Given the description of an element on the screen output the (x, y) to click on. 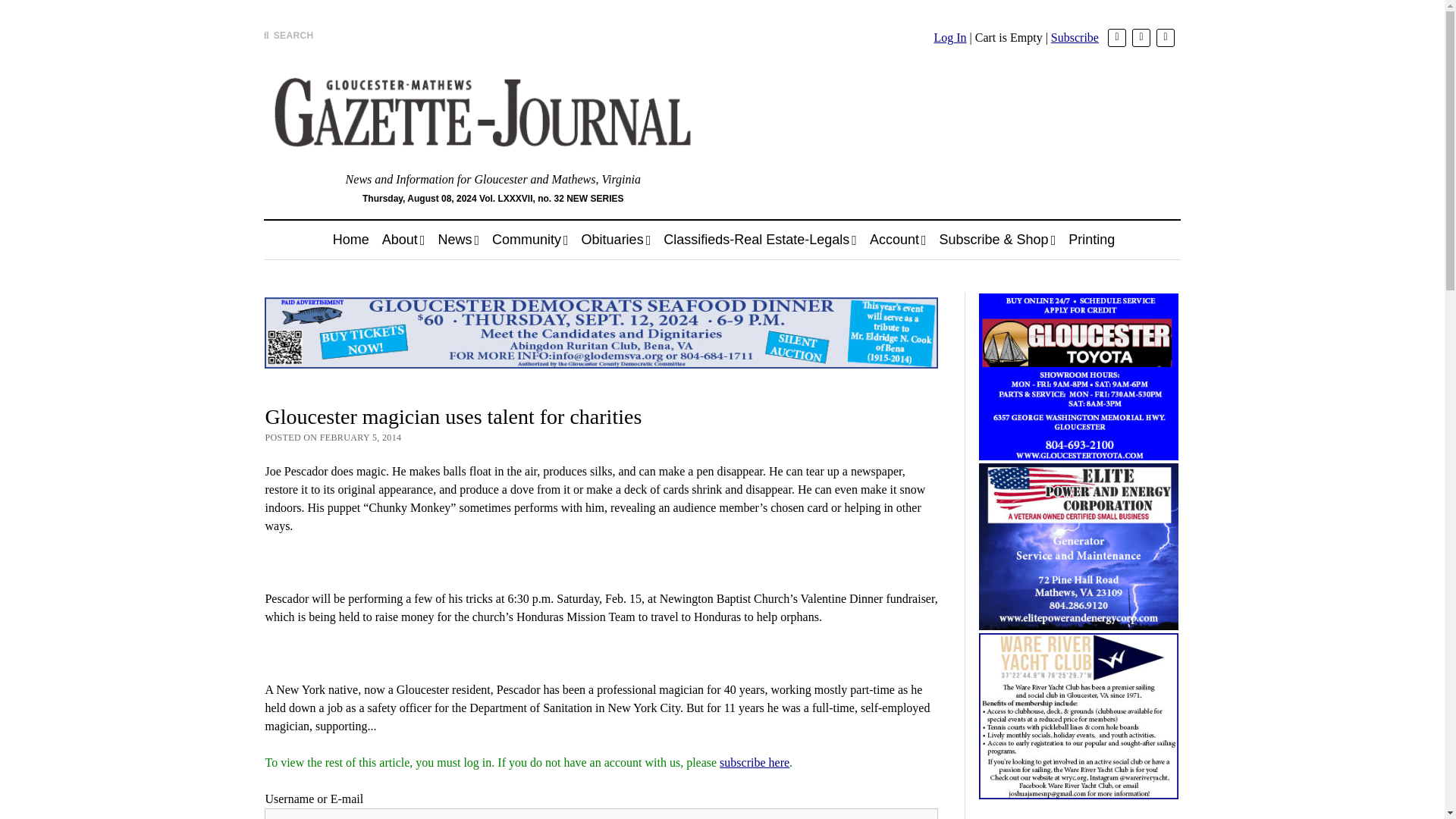
Community (530, 239)
Log In (949, 37)
About (402, 239)
Search (945, 129)
instagram (1165, 37)
Home (350, 239)
News (457, 239)
twitter (1116, 37)
Subscribe (1075, 37)
SEARCH (288, 35)
